Given the description of an element on the screen output the (x, y) to click on. 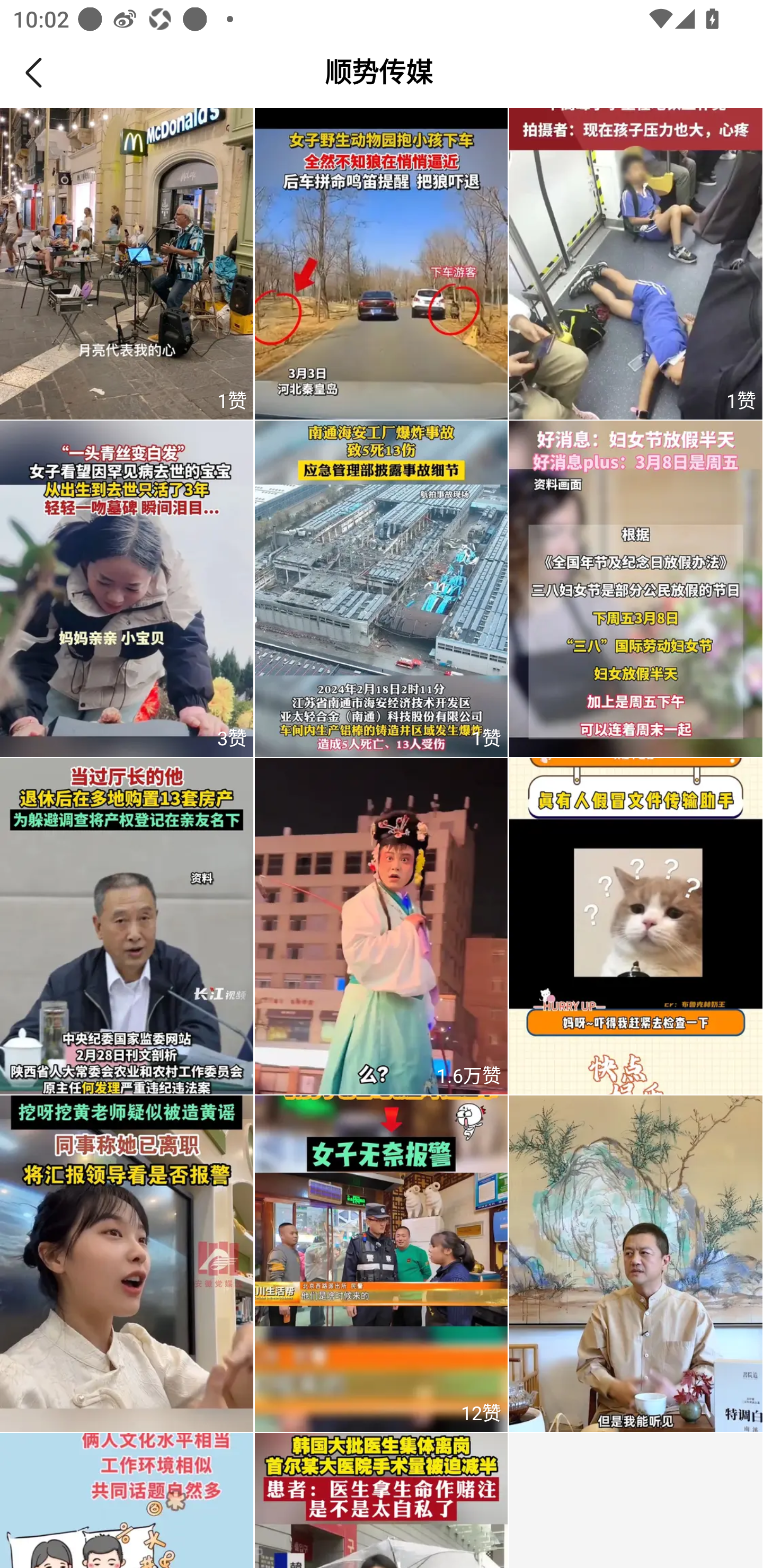
顺势传媒 (378, 72)
返回 (39, 72)
